Given the description of an element on the screen output the (x, y) to click on. 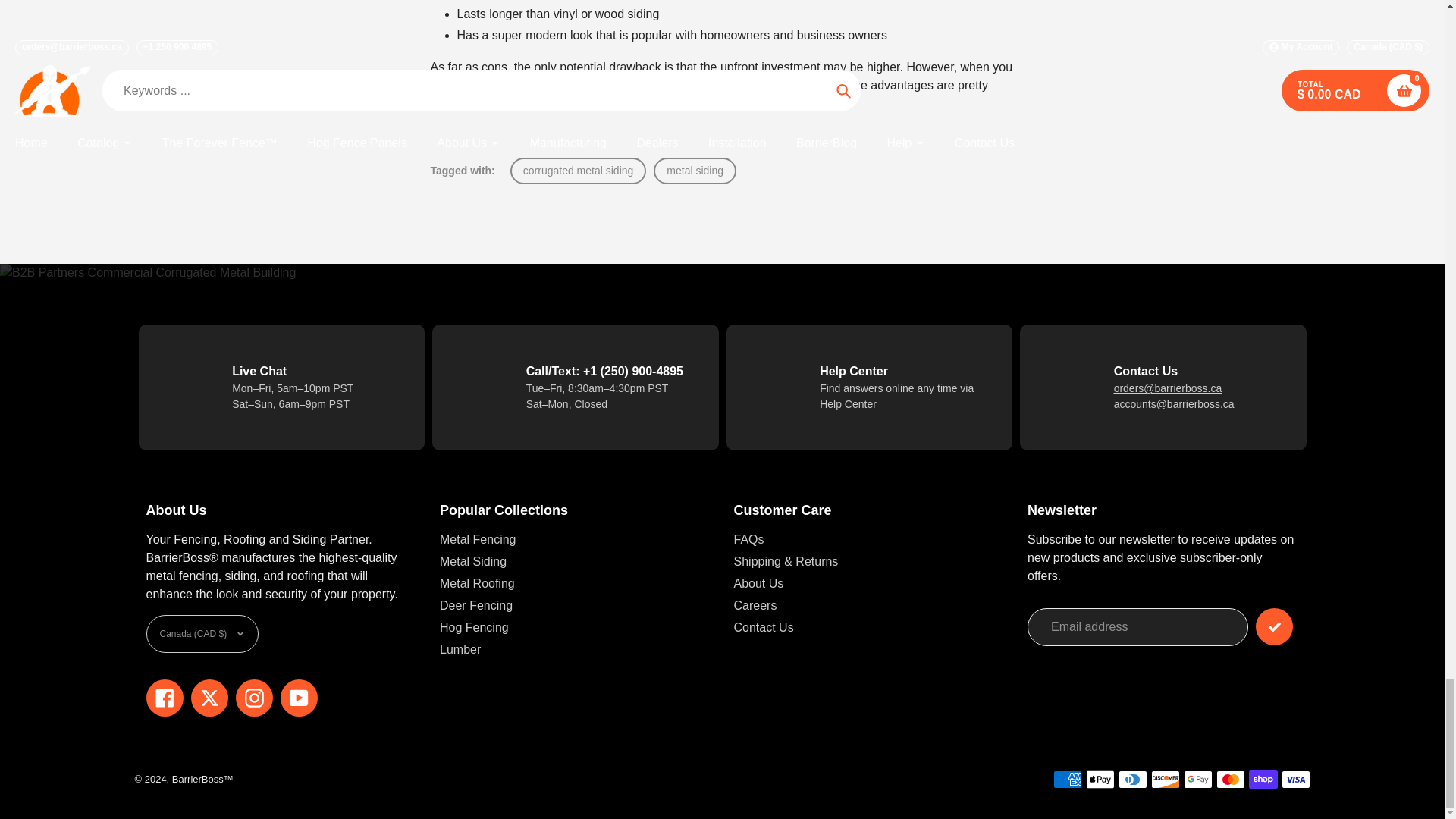
Contact Us (847, 404)
Contact Us (1168, 387)
Show articles tagged corrugated metal siding (577, 170)
Show articles tagged metal siding (694, 170)
